Given the description of an element on the screen output the (x, y) to click on. 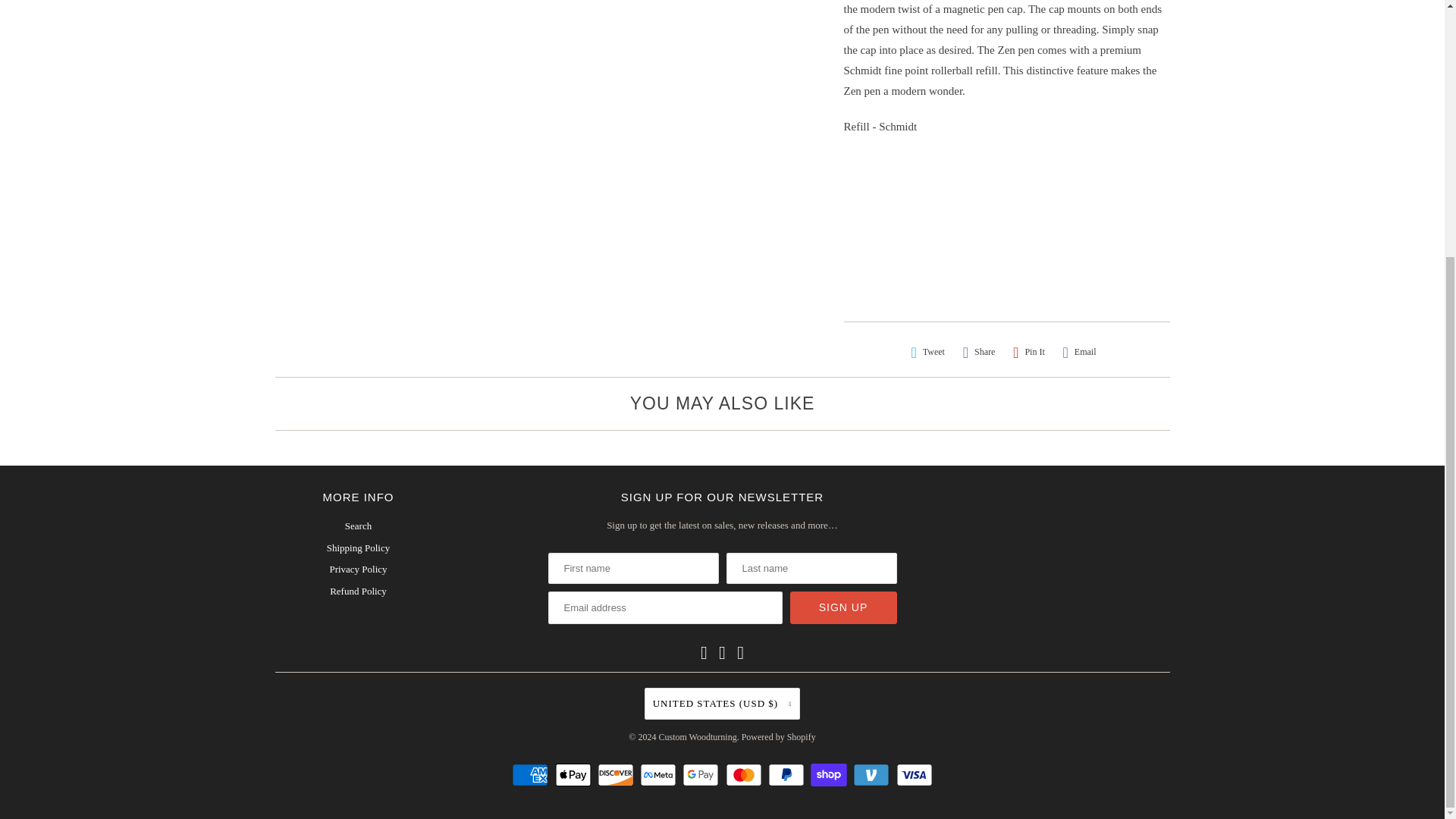
Meta Pay (659, 774)
Google Pay (702, 774)
Share this on Facebook (979, 351)
Email this to a friend (1079, 351)
Shop Pay (830, 774)
PayPal (788, 774)
Share (979, 351)
Mastercard (745, 774)
Discover (616, 774)
Shipping Policy (358, 547)
